Given the description of an element on the screen output the (x, y) to click on. 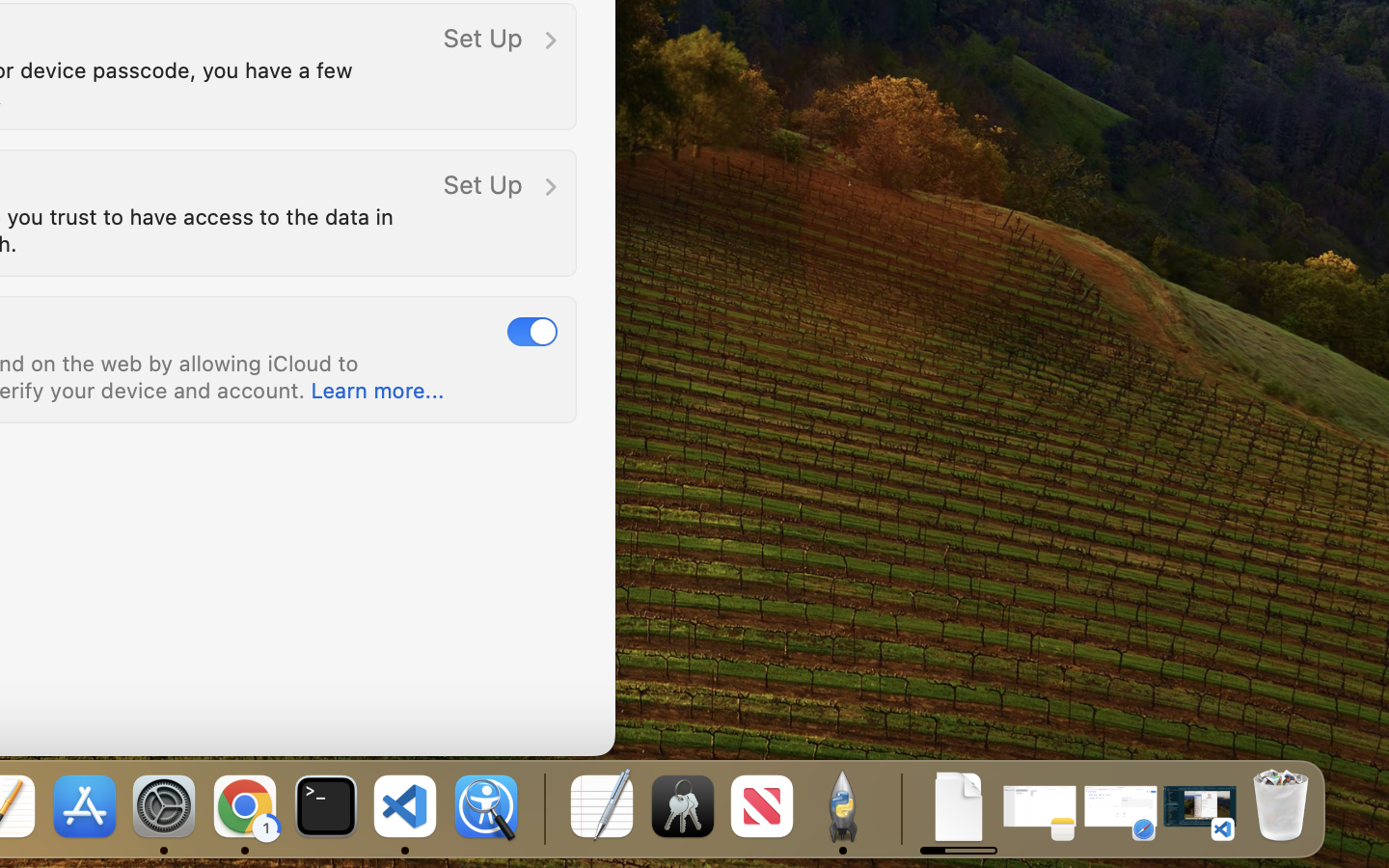
0.4285714328289032 Element type: AXDockItem (541, 807)
1 Element type: AXCheckBox (532, 330)
